Given the description of an element on the screen output the (x, y) to click on. 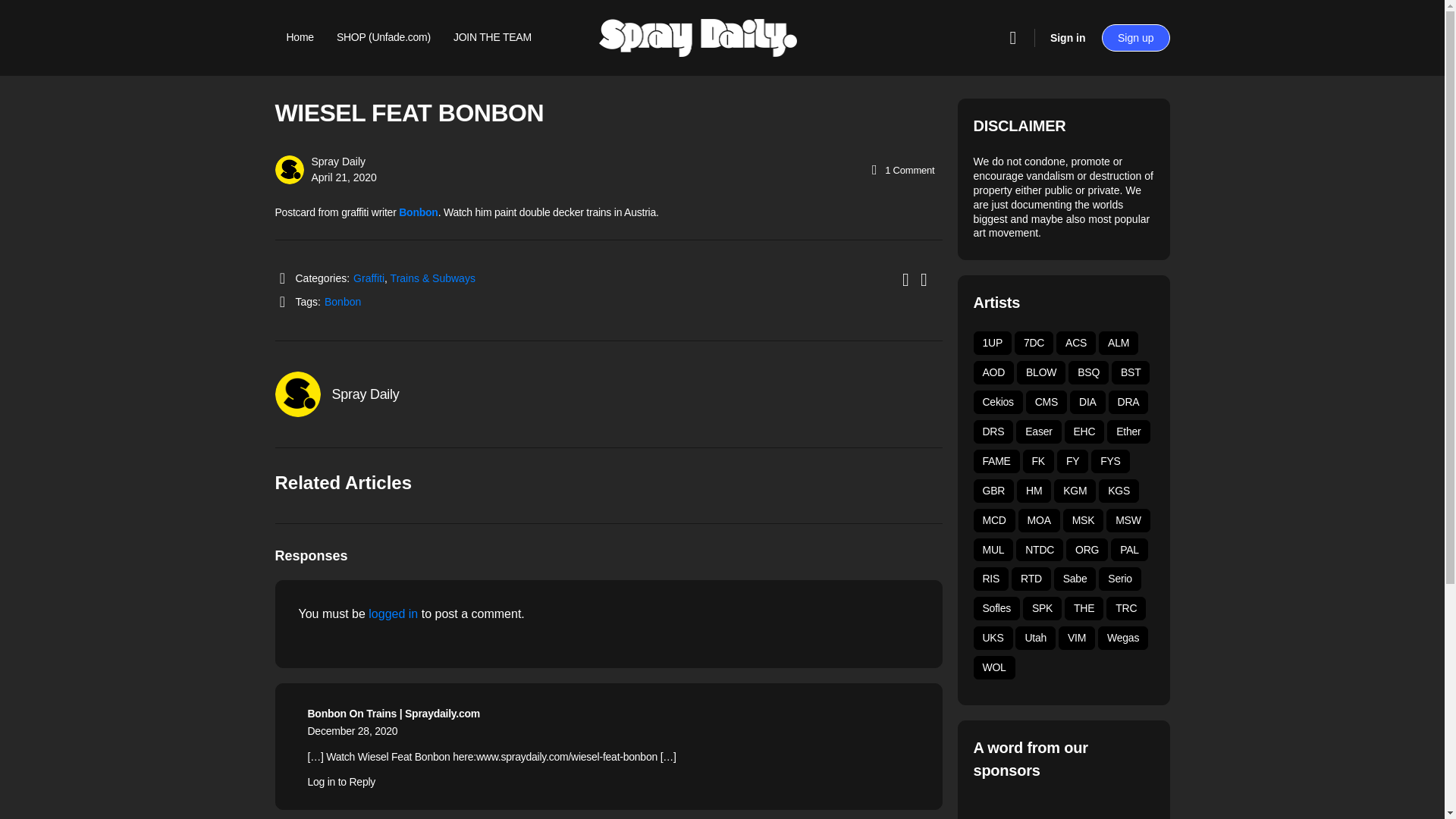
Home (300, 38)
Sign up (1135, 37)
Spray Daily (338, 161)
About us (306, 113)
Bonbon (418, 212)
Sign in (1067, 37)
JOIN THE TEAM (491, 38)
April 21, 2020 (343, 177)
1 Comment (901, 170)
Spray Daily (364, 394)
Graffiti (368, 277)
Bonbon (342, 301)
